Given the description of an element on the screen output the (x, y) to click on. 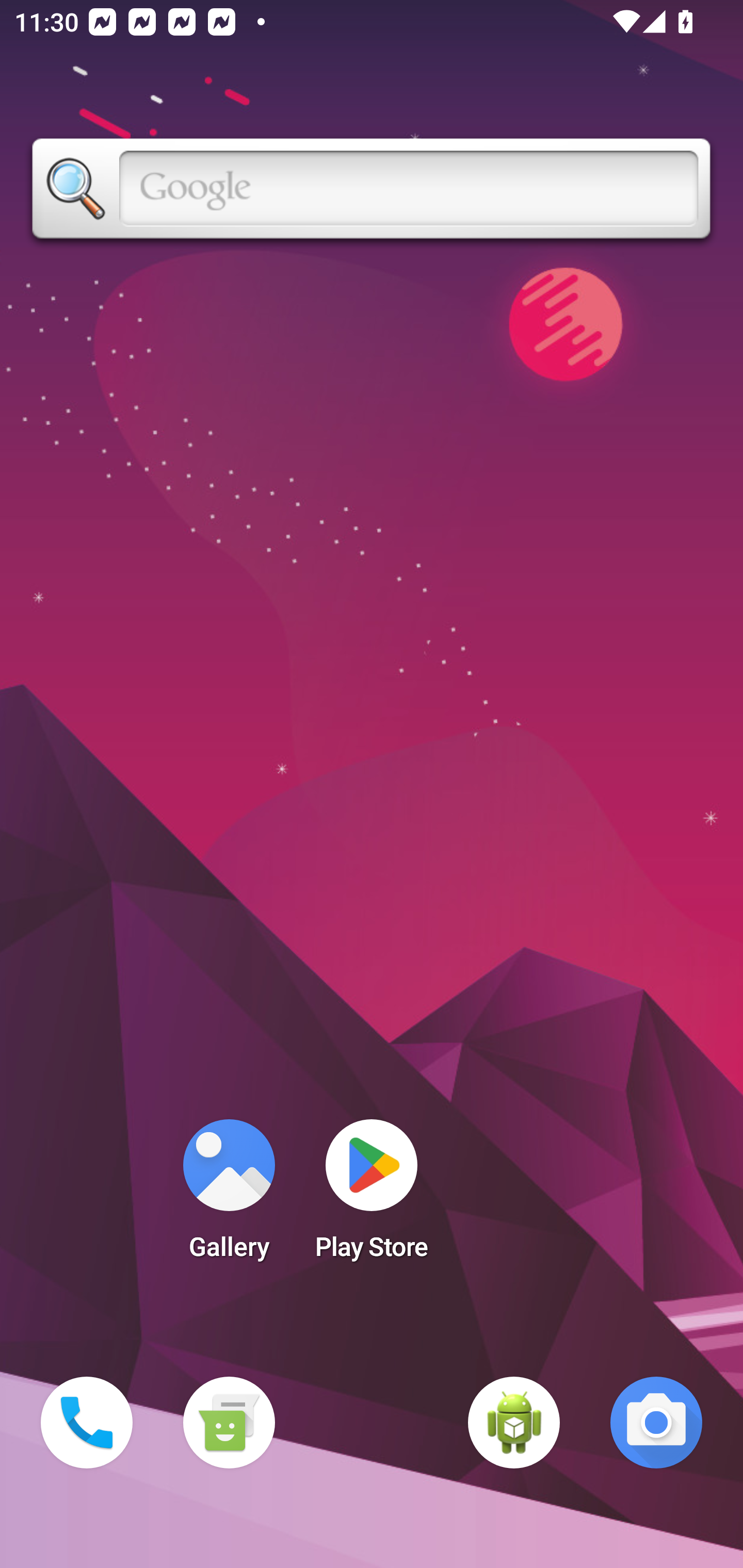
Gallery (228, 1195)
Play Store (371, 1195)
Phone (86, 1422)
Messaging (228, 1422)
WebView Browser Tester (513, 1422)
Camera (656, 1422)
